Given the description of an element on the screen output the (x, y) to click on. 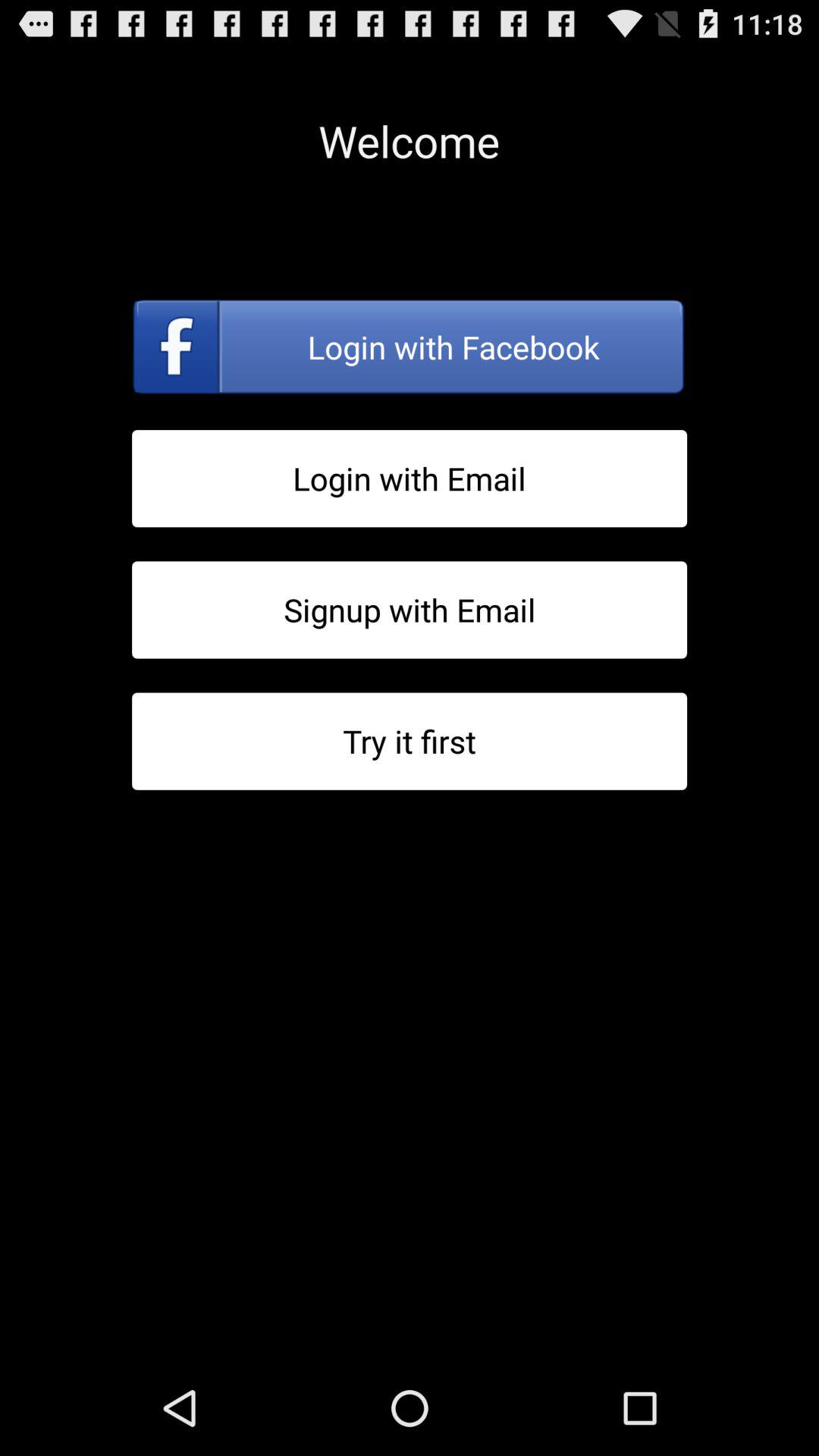
try app without creating account (409, 741)
